Given the description of an element on the screen output the (x, y) to click on. 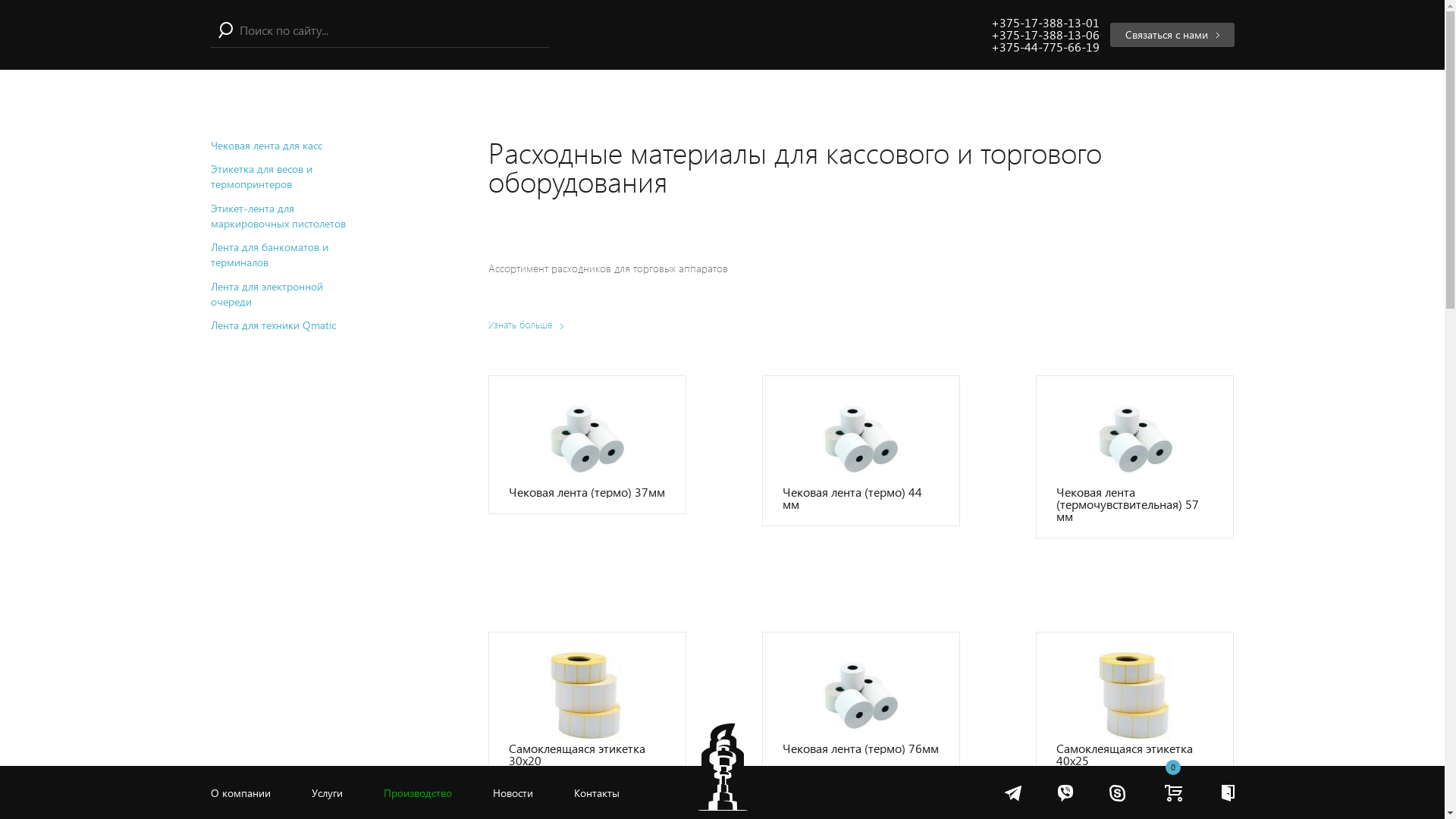
0 Element type: text (1173, 792)
